Given the description of an element on the screen output the (x, y) to click on. 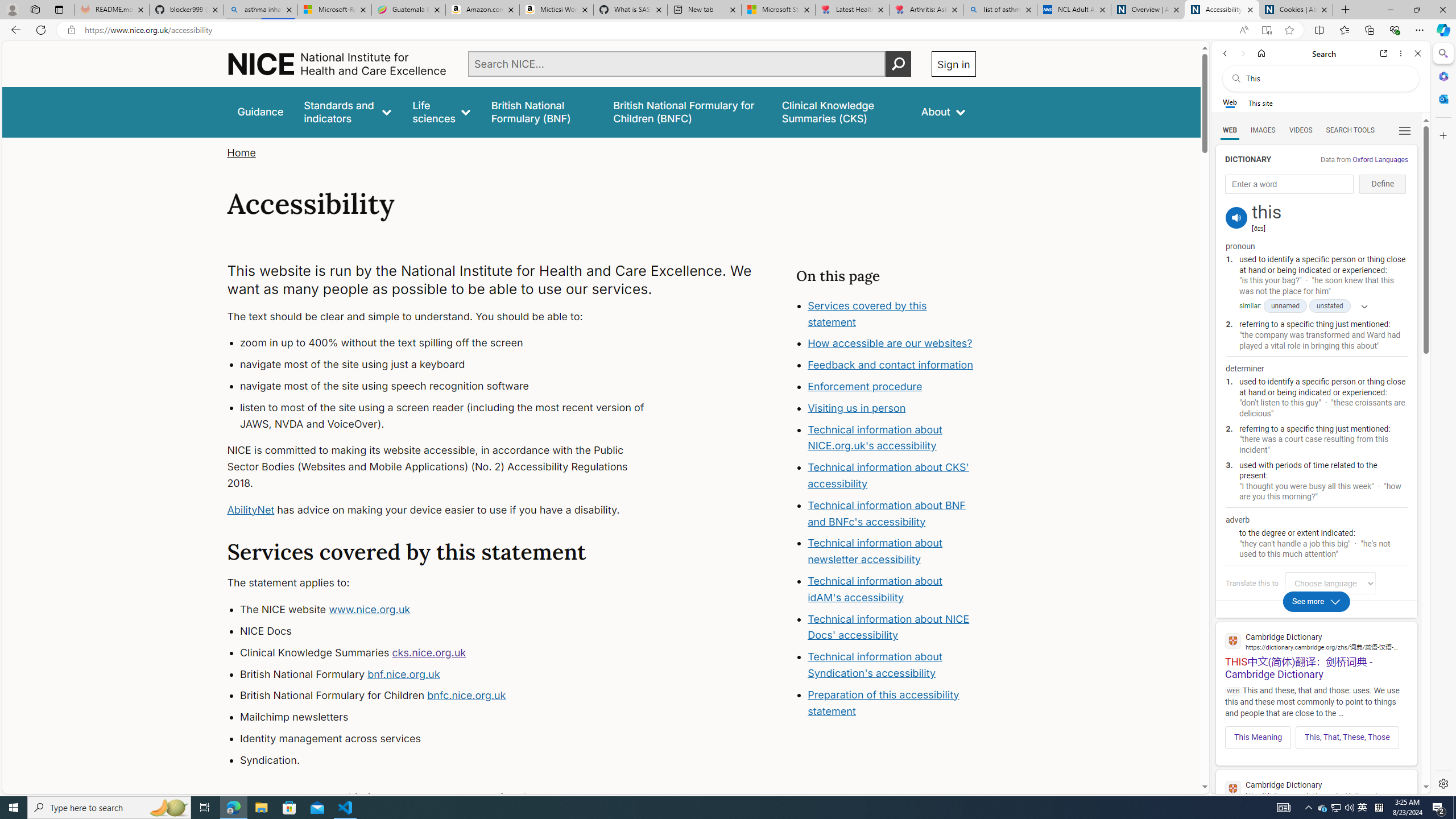
list of asthma inhalers uk - Search (1000, 9)
